Given the description of an element on the screen output the (x, y) to click on. 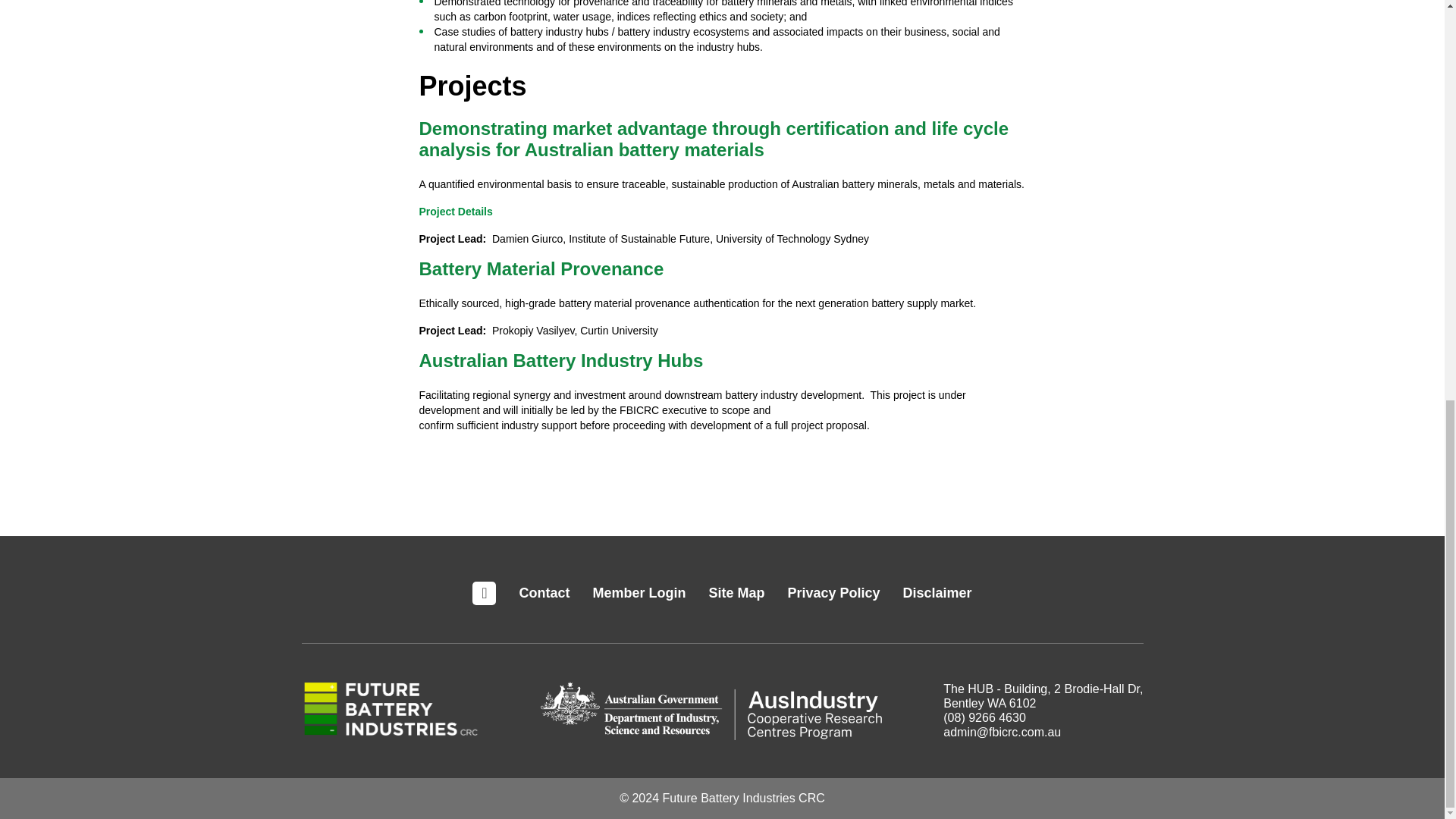
Site Map (735, 592)
Member Login (638, 592)
Privacy Policy (833, 592)
Disclaimer (937, 592)
Project Details (455, 211)
Contact (543, 592)
